Given the description of an element on the screen output the (x, y) to click on. 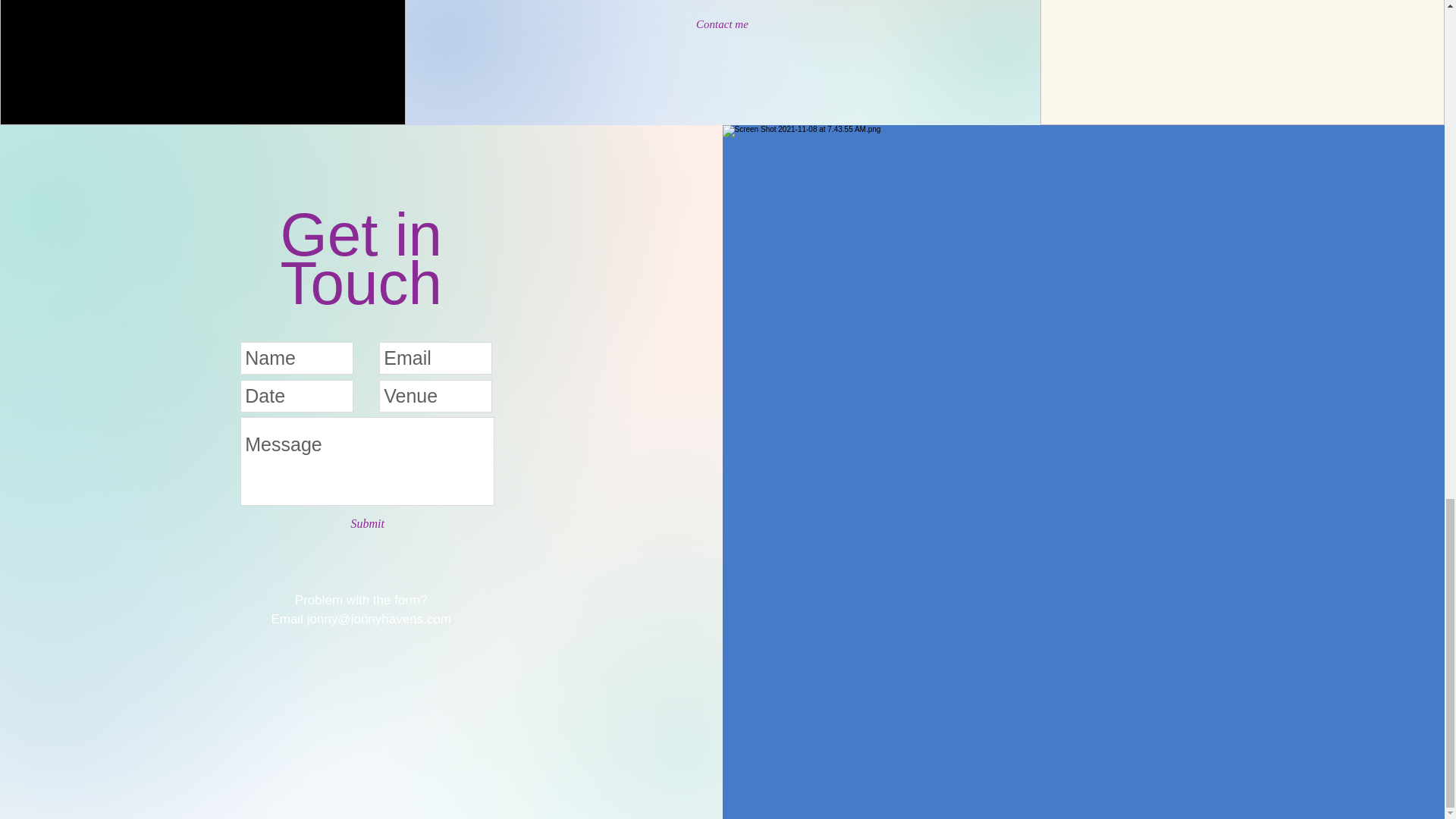
Submit (367, 524)
Contact me (722, 24)
